Given the description of an element on the screen output the (x, y) to click on. 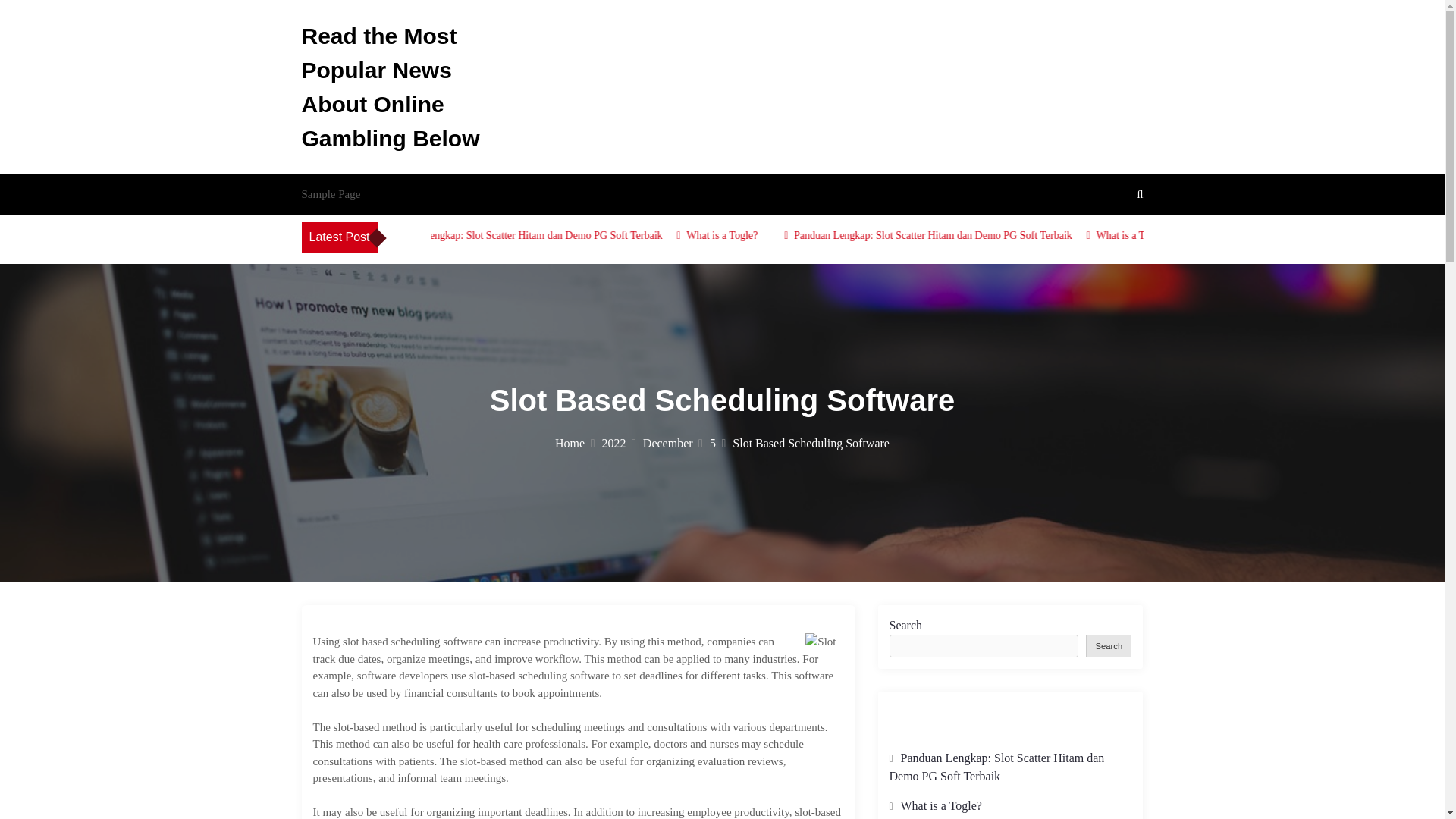
Home (574, 442)
Sample Page (331, 193)
What is a Togle? (1187, 234)
5 (717, 442)
December (673, 442)
Read the Most Popular News About Online Gambling Below (390, 86)
2022 (619, 442)
What is a Togle? (778, 234)
Panduan Lengkap: Slot Scatter Hitam dan Demo PG Soft Terbaik (990, 234)
Search (1108, 645)
Panduan Lengkap: Slot Scatter Hitam dan Demo PG Soft Terbaik (580, 234)
Panduan Lengkap: Slot Scatter Hitam dan Demo PG Soft Terbaik (995, 766)
What is a Togle? (941, 805)
